Given the description of an element on the screen output the (x, y) to click on. 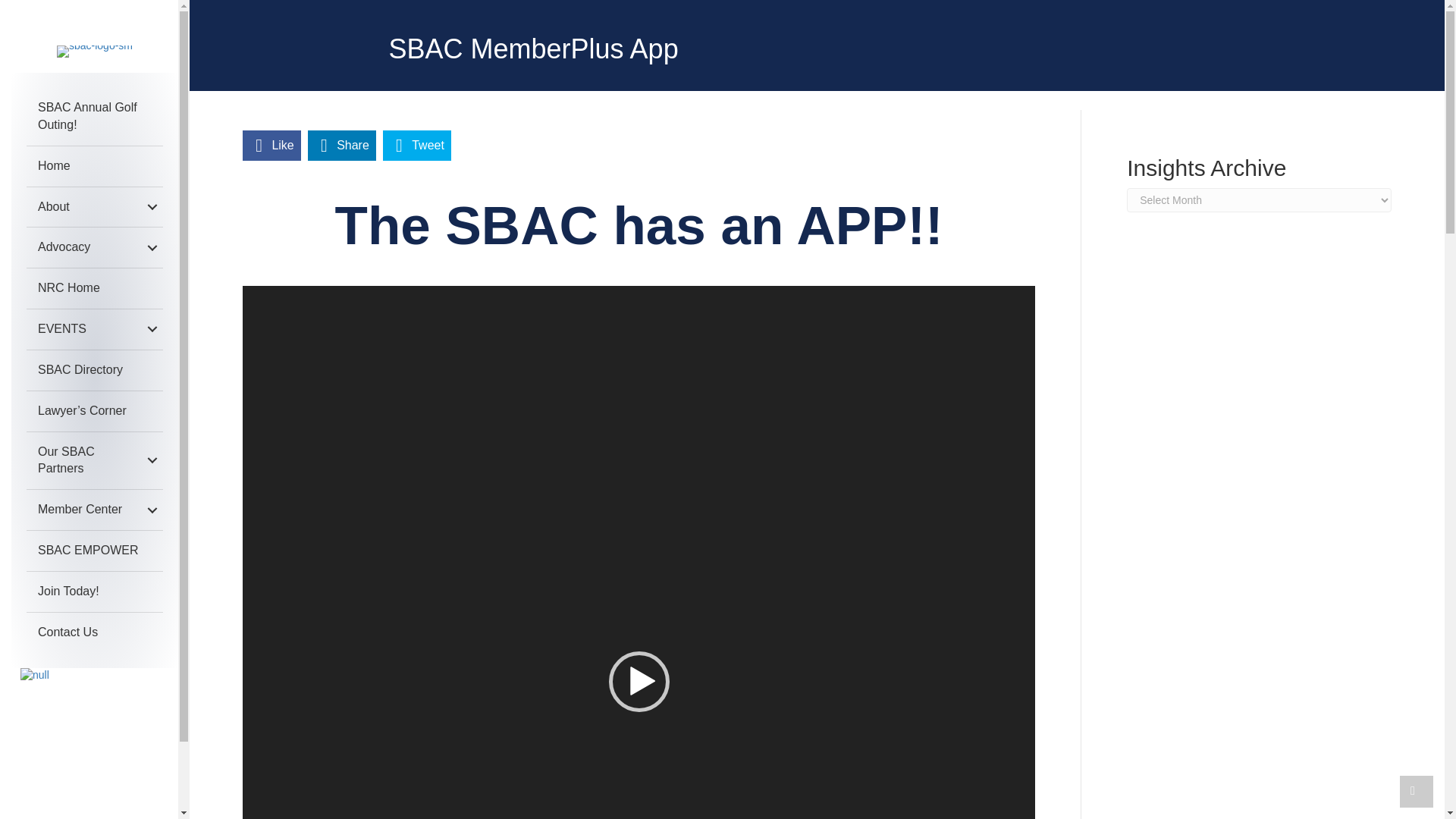
sbac-logo-sm (94, 51)
Join Today! (94, 591)
About (94, 207)
Member Center (94, 509)
Home (94, 166)
Advocacy (94, 247)
Share (342, 145)
SBAC Annual Golf Outing! (94, 116)
Like (272, 145)
SBAC Directory (94, 370)
Tweet (416, 145)
NRC Home (94, 288)
Contact Us (94, 632)
Our SBAC Partners (94, 460)
EVENTS (94, 329)
